Given the description of an element on the screen output the (x, y) to click on. 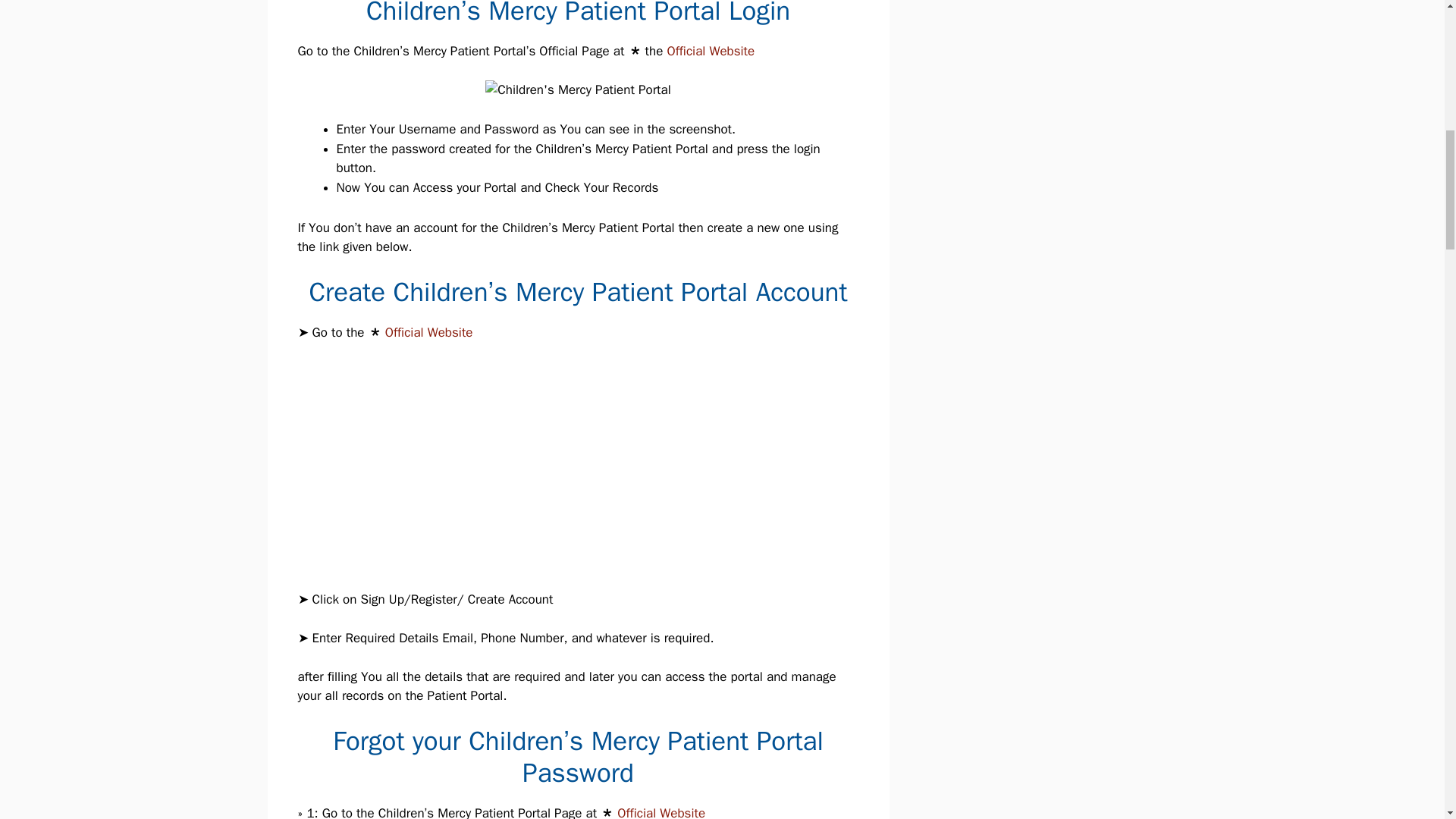
Official Website (660, 812)
Official Website (710, 50)
Official Website (429, 332)
